Given the description of an element on the screen output the (x, y) to click on. 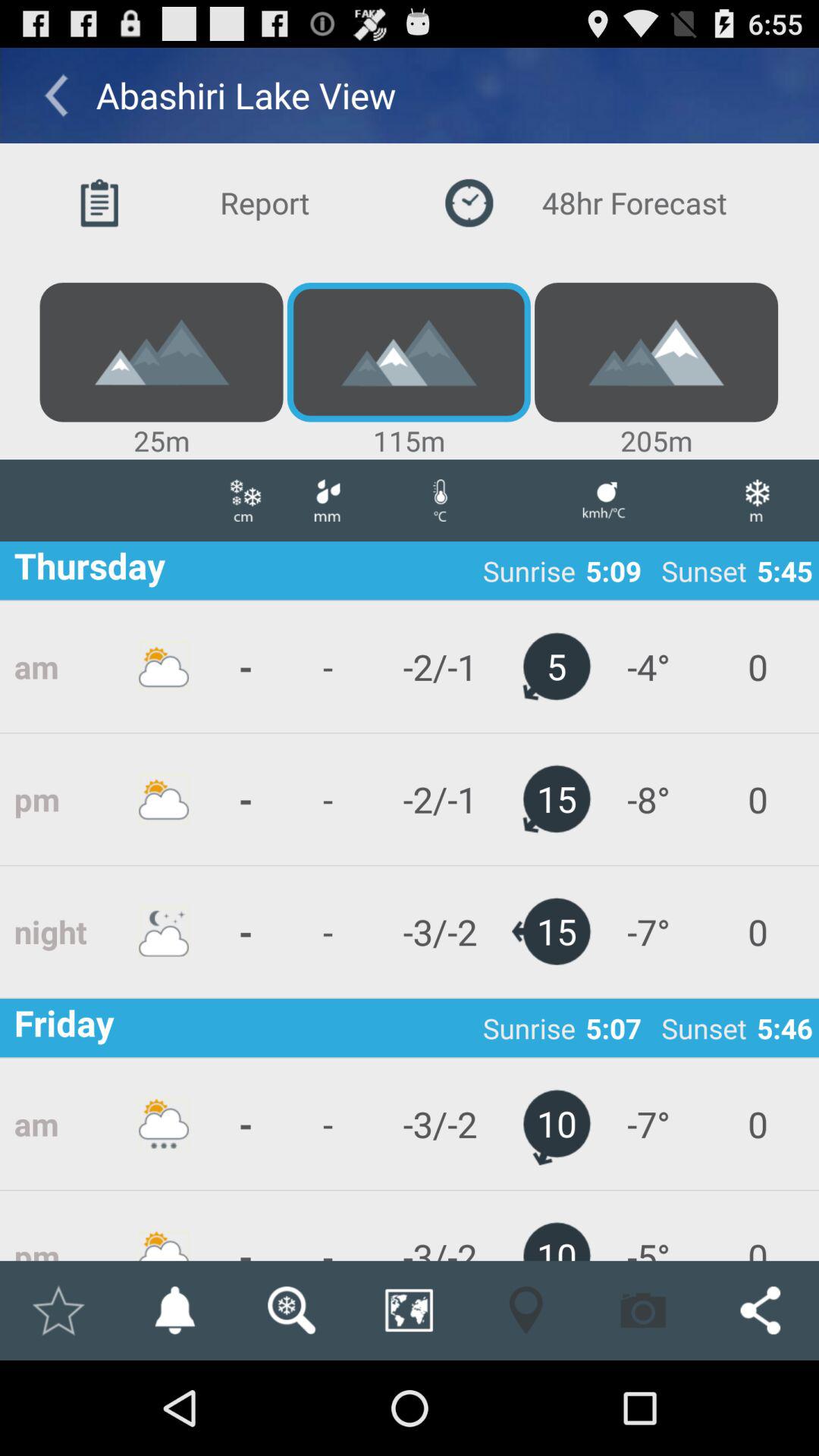
share (760, 1310)
